Given the description of an element on the screen output the (x, y) to click on. 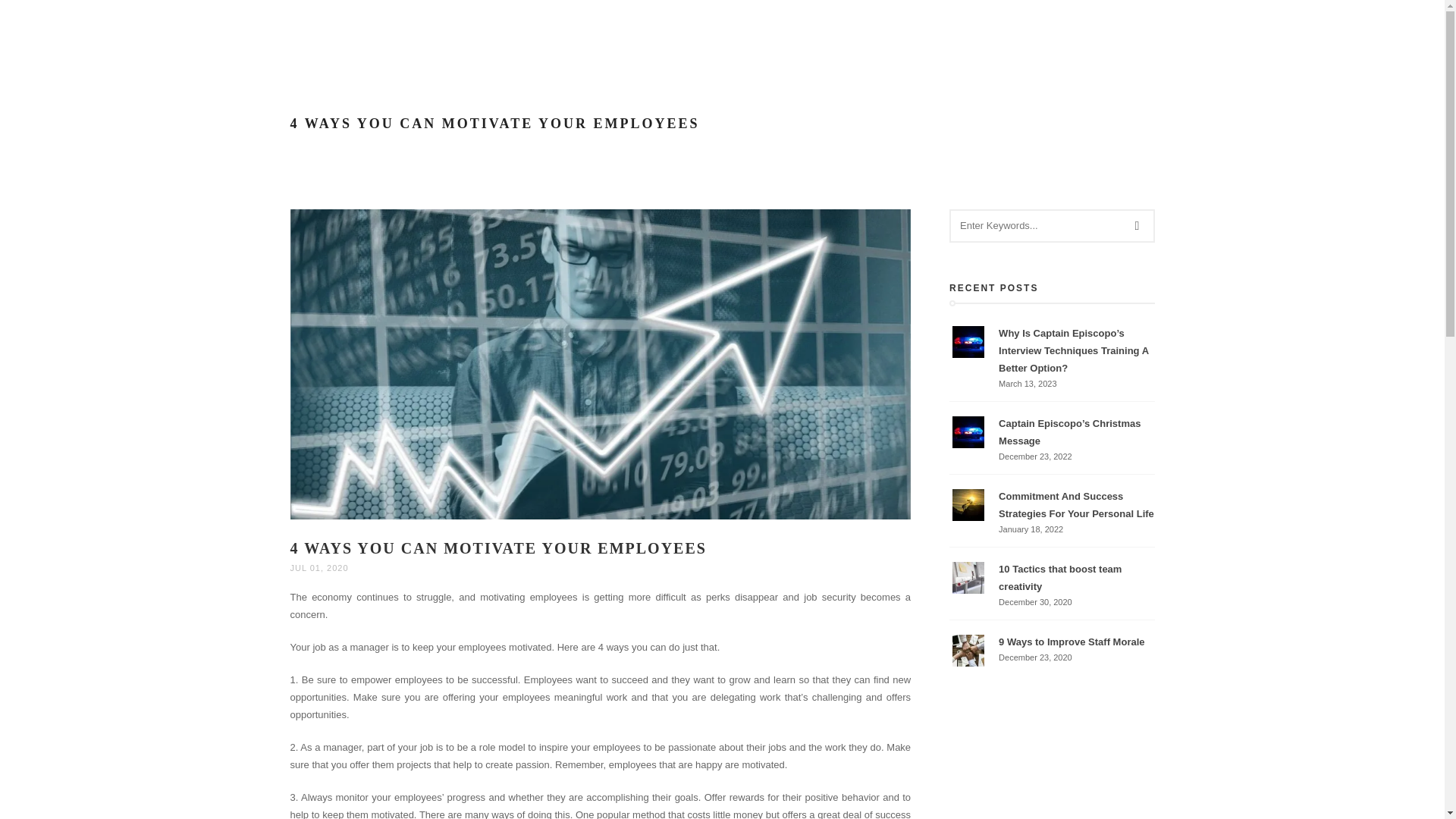
Matt Episcopo (208, 38)
LAW ENFORCEMENT ONLY (979, 38)
ABOUT MATT (640, 38)
